Given the description of an element on the screen output the (x, y) to click on. 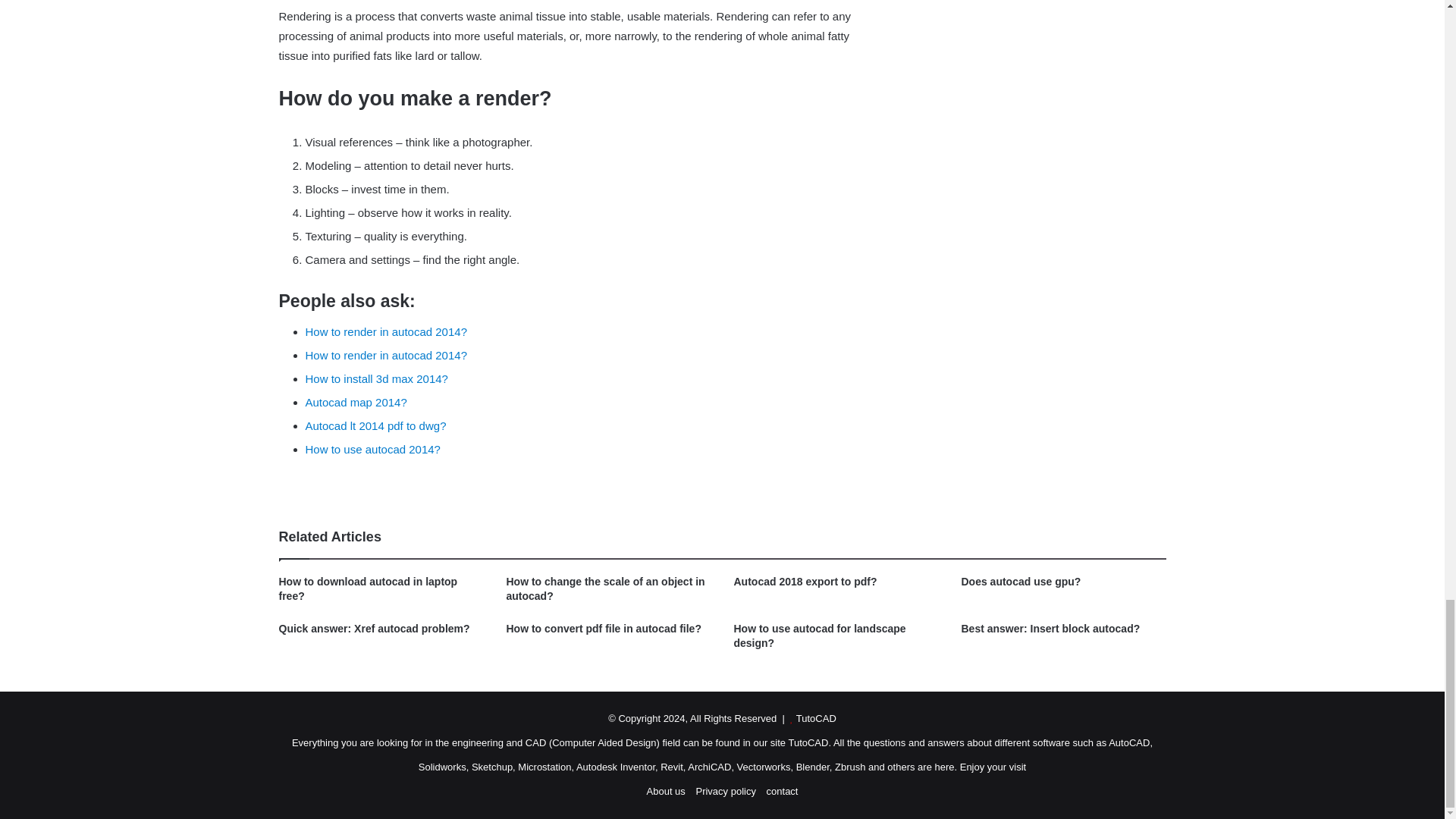
Autocad map 2014? (355, 401)
How to use autocad 2014? (371, 449)
How to render in autocad 2014? (384, 354)
How to render in autocad 2014? (384, 331)
How to install 3d max 2014? (375, 378)
Autocad lt 2014 pdf to dwg? (374, 425)
